Given the description of an element on the screen output the (x, y) to click on. 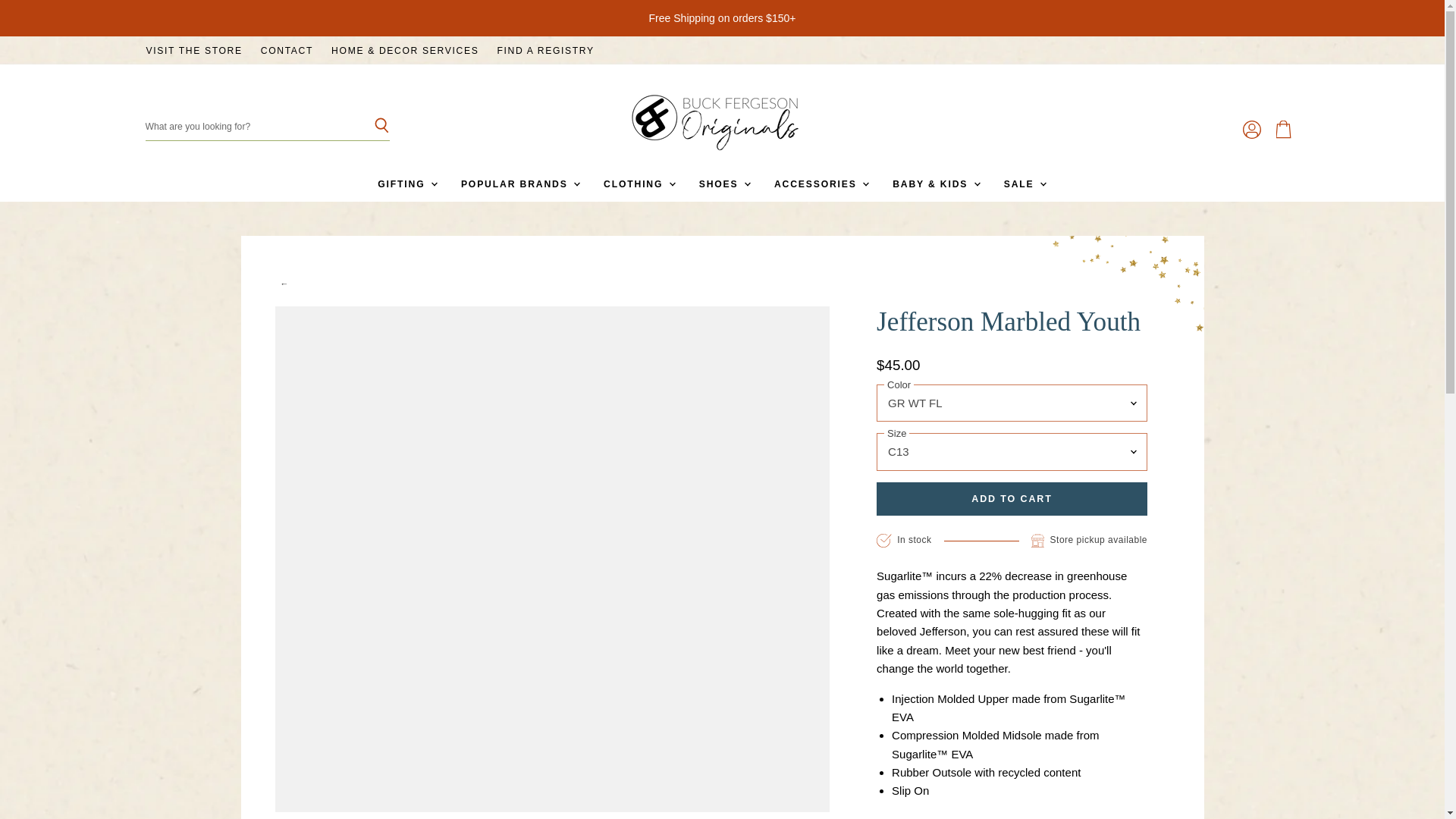
CONTACT (286, 50)
POPULAR BRANDS (519, 183)
FIND A REGISTRY (545, 50)
CLOTHING (638, 183)
VISIT THE STORE (193, 50)
View account (1251, 130)
GIFTING (405, 183)
